Given the description of an element on the screen output the (x, y) to click on. 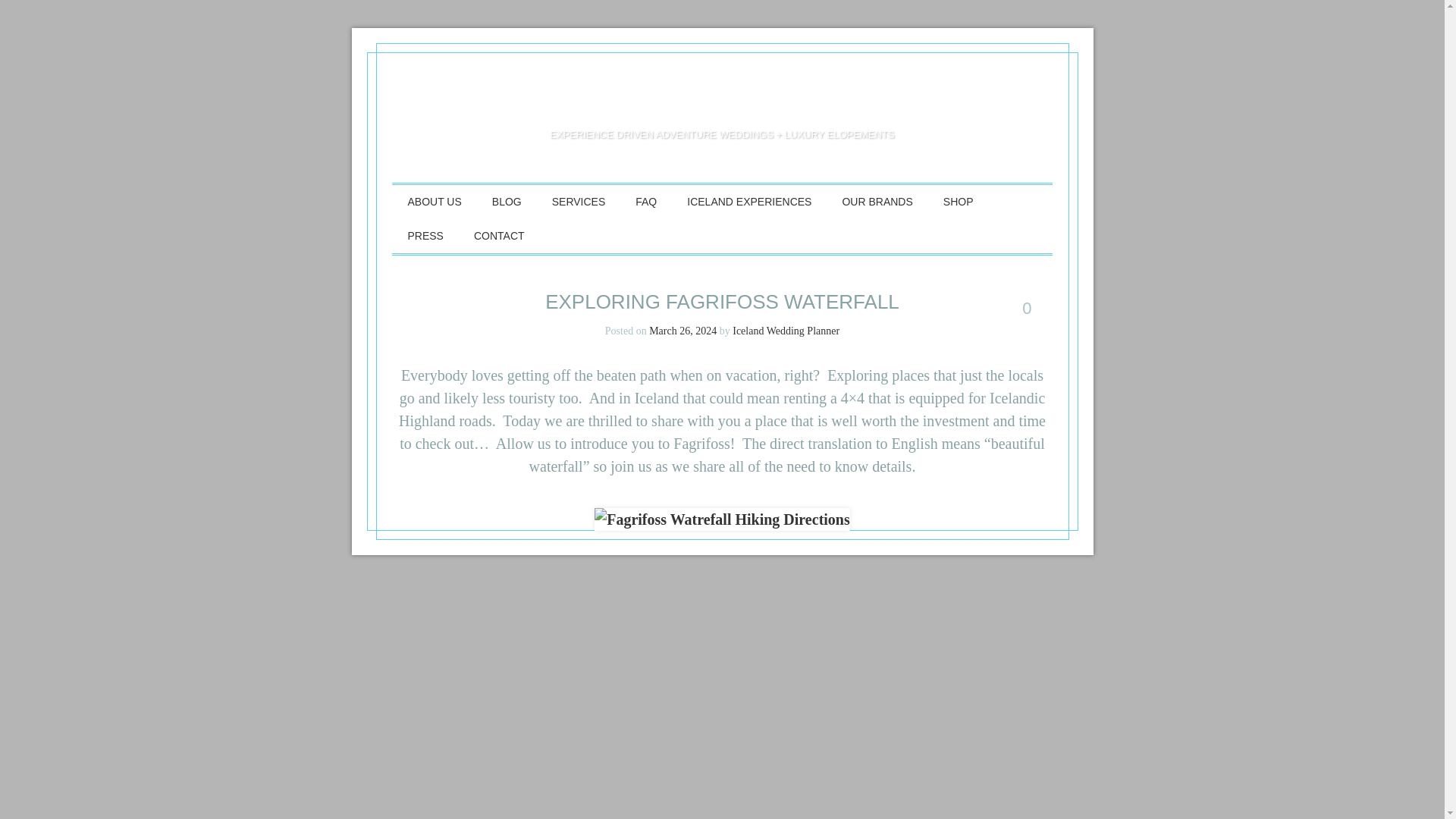
FAQ (645, 201)
SKIP TO CONTENT (454, 201)
OUR BRANDS (877, 201)
SERVICES (578, 201)
Skip to content (454, 201)
BLOG (506, 201)
View all posts by Iceland Wedding Planner (786, 330)
ICELAND EXPERIENCES (748, 201)
ABOUT US (433, 201)
7:00 am (682, 330)
